Given the description of an element on the screen output the (x, y) to click on. 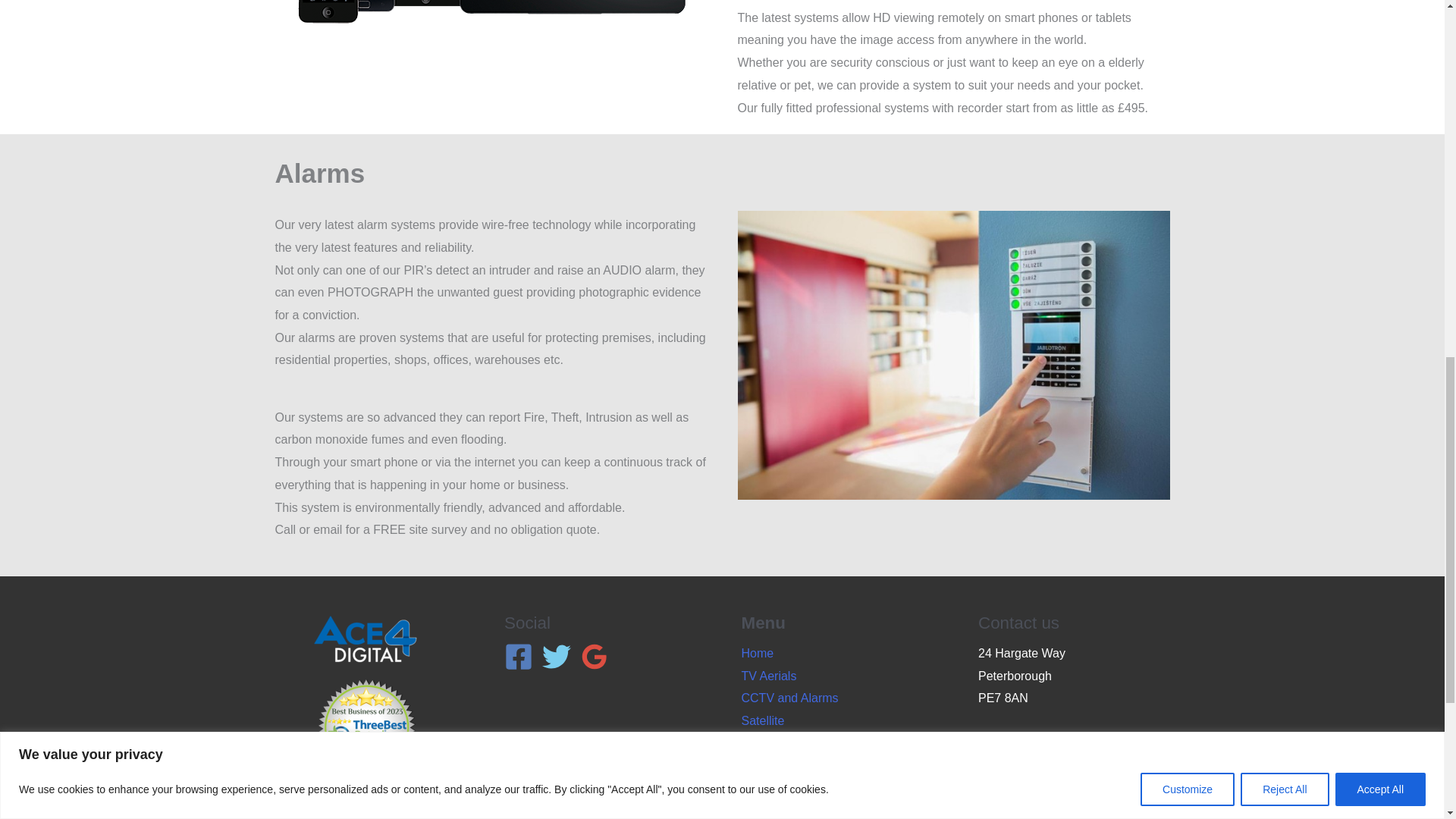
Ace4Digital Google Reviews (1016, 796)
